Given the description of an element on the screen output the (x, y) to click on. 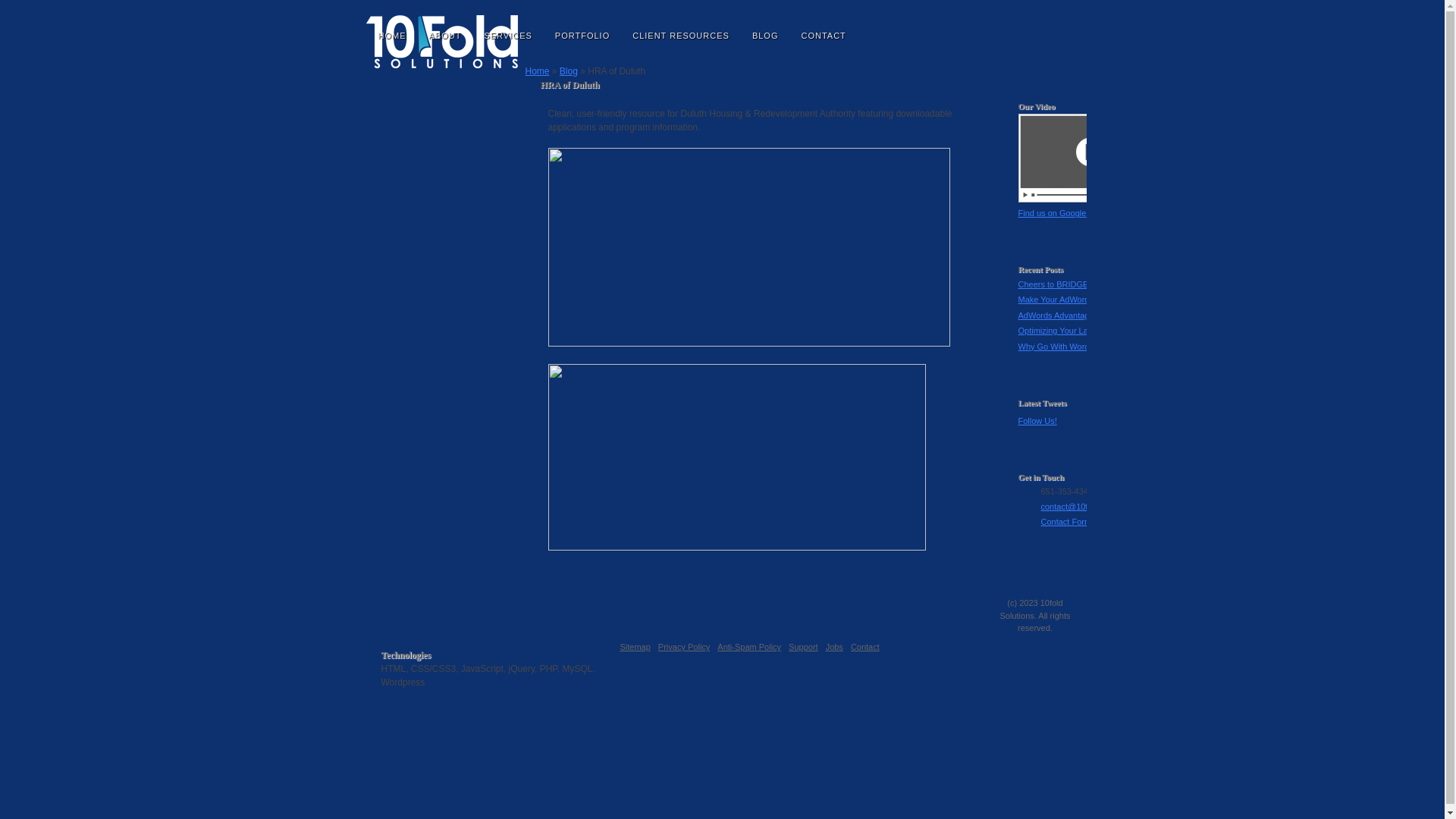
CONTACT Element type: text (822, 34)
Sitemap Element type: text (635, 646)
RSS Element type: text (1051, 21)
Cheers to BRIDGEdotMN! Element type: text (1065, 283)
Anti-Spam Policy Element type: text (749, 646)
ABOUT Element type: text (444, 34)
CLIENT RESOURCES Element type: text (680, 34)
Jobs Element type: text (834, 646)
10fold Solutions Element type: hover (441, 43)
Twitter Element type: text (1004, 21)
Facebook Element type: text (981, 21)
SERVICES Element type: text (507, 34)
Search Element type: text (1063, 35)
Blog Element type: text (568, 70)
HOME Element type: text (392, 34)
Why Go With WordPress? Element type: text (1065, 346)
duluthhra2 Element type: hover (736, 457)
Find us on Google+ Element type: text (1053, 212)
PORTFOLIO Element type: text (582, 34)
AdWords Advantages Element type: text (1057, 315)
Facebook Element type: text (1075, 539)
BLOG Element type: text (765, 34)
Make Your AdWords Dollars Count Element type: text (1081, 299)
Contact Form Element type: text (1065, 521)
contact@10foldsolutions.com Element type: text (1094, 506)
Support Element type: text (803, 646)
Privacy Policy Element type: text (683, 646)
Home Element type: text (536, 70)
duluthhra1 Element type: hover (748, 246)
Twitter Element type: text (1061, 539)
RSS Element type: text (1047, 539)
Email Element type: text (1028, 21)
Follow Us! Element type: text (1036, 420)
Contact Element type: text (864, 646)
Optimizing Your Landing Page Element type: text (1073, 330)
